Given the description of an element on the screen output the (x, y) to click on. 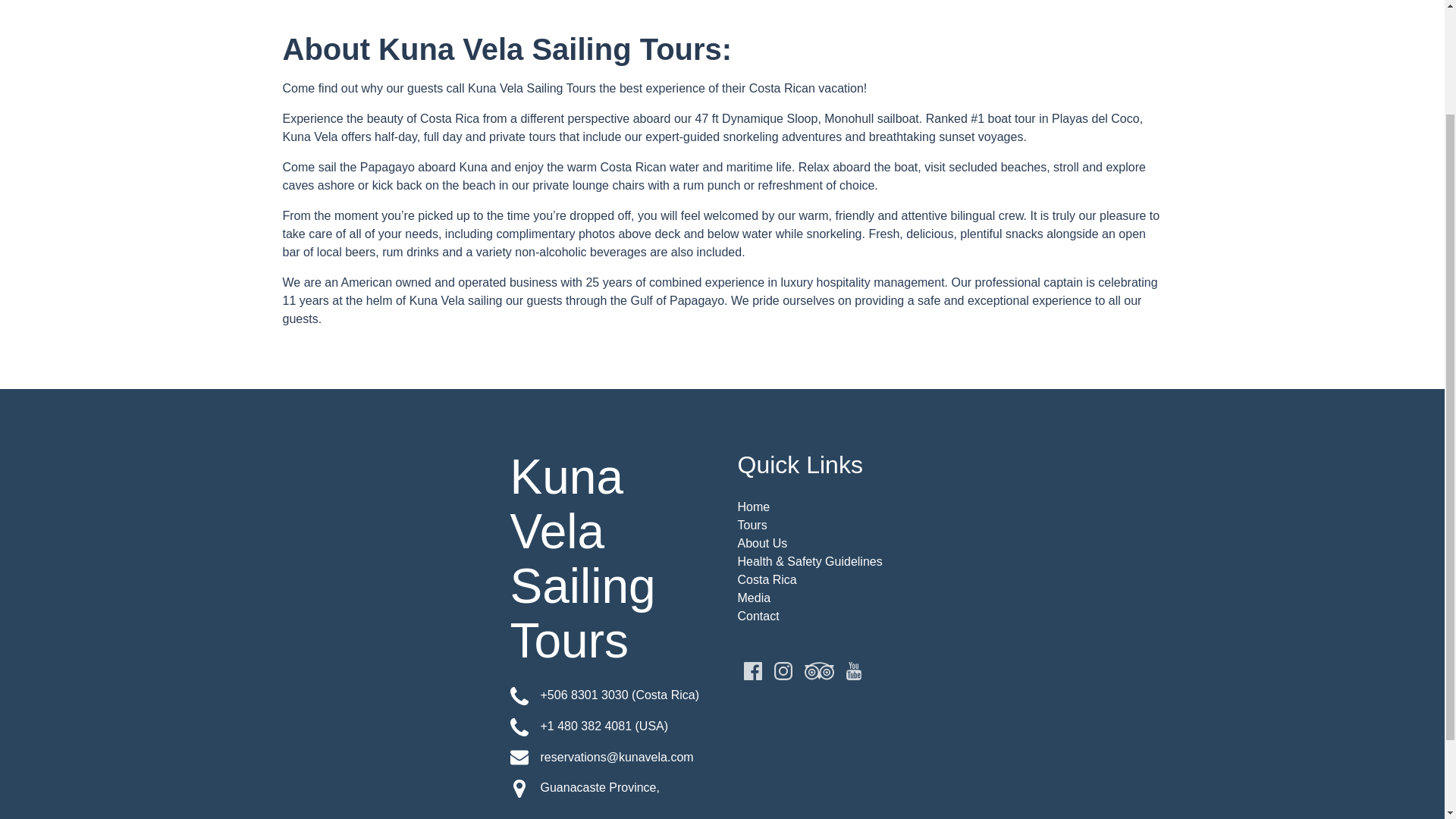
Map Marker (518, 788)
Media (753, 597)
Costa Rica (607, 787)
About Us (766, 579)
Contact (761, 543)
Phone (757, 615)
Envelope (518, 727)
Phone (518, 757)
Tours (518, 696)
Home (751, 524)
